Given the description of an element on the screen output the (x, y) to click on. 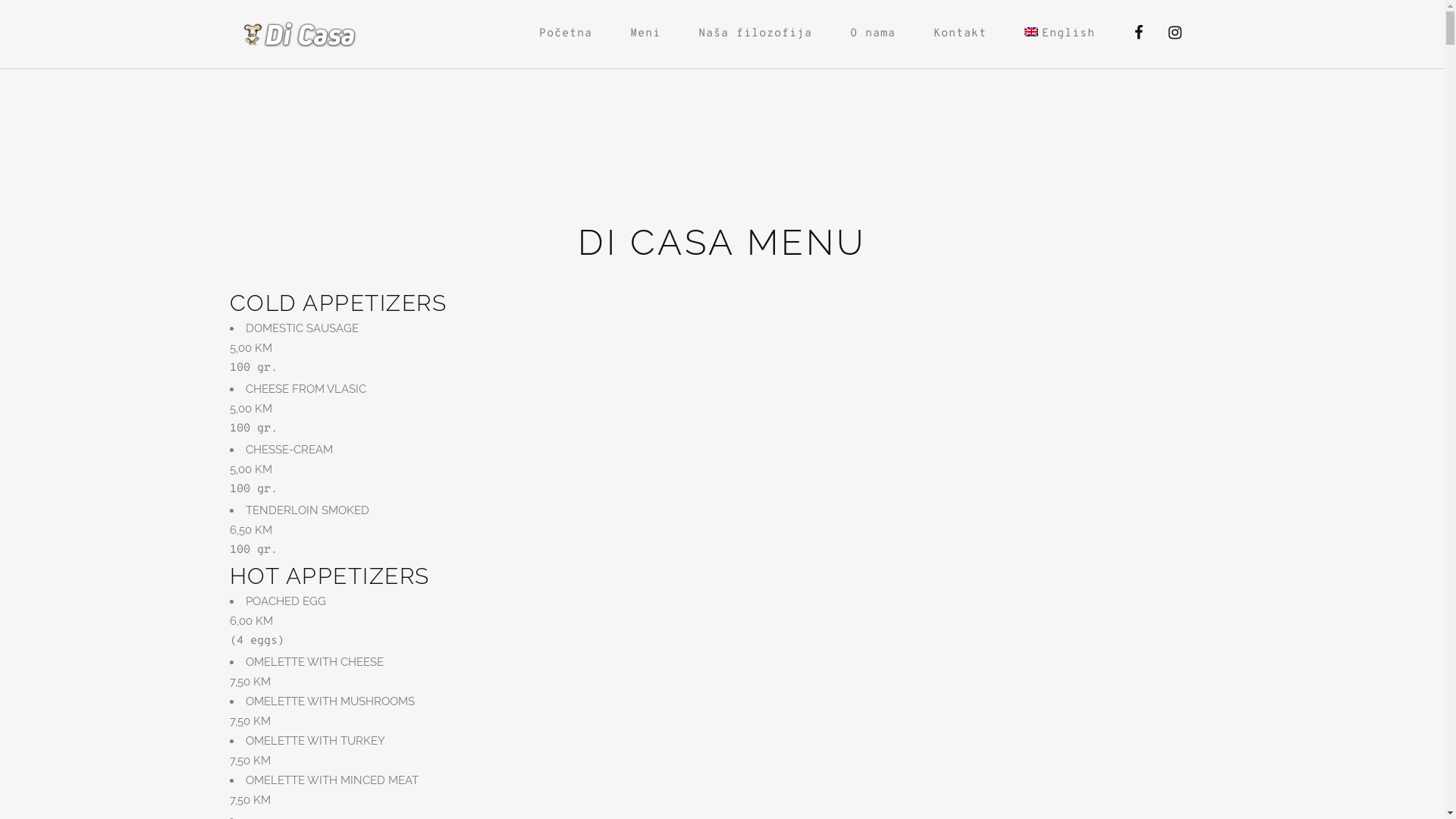
Kontakt Element type: text (959, 34)
English Element type: text (1061, 34)
Meni Element type: text (645, 34)
English Element type: hover (1031, 31)
O nama Element type: text (872, 34)
